Given the description of an element on the screen output the (x, y) to click on. 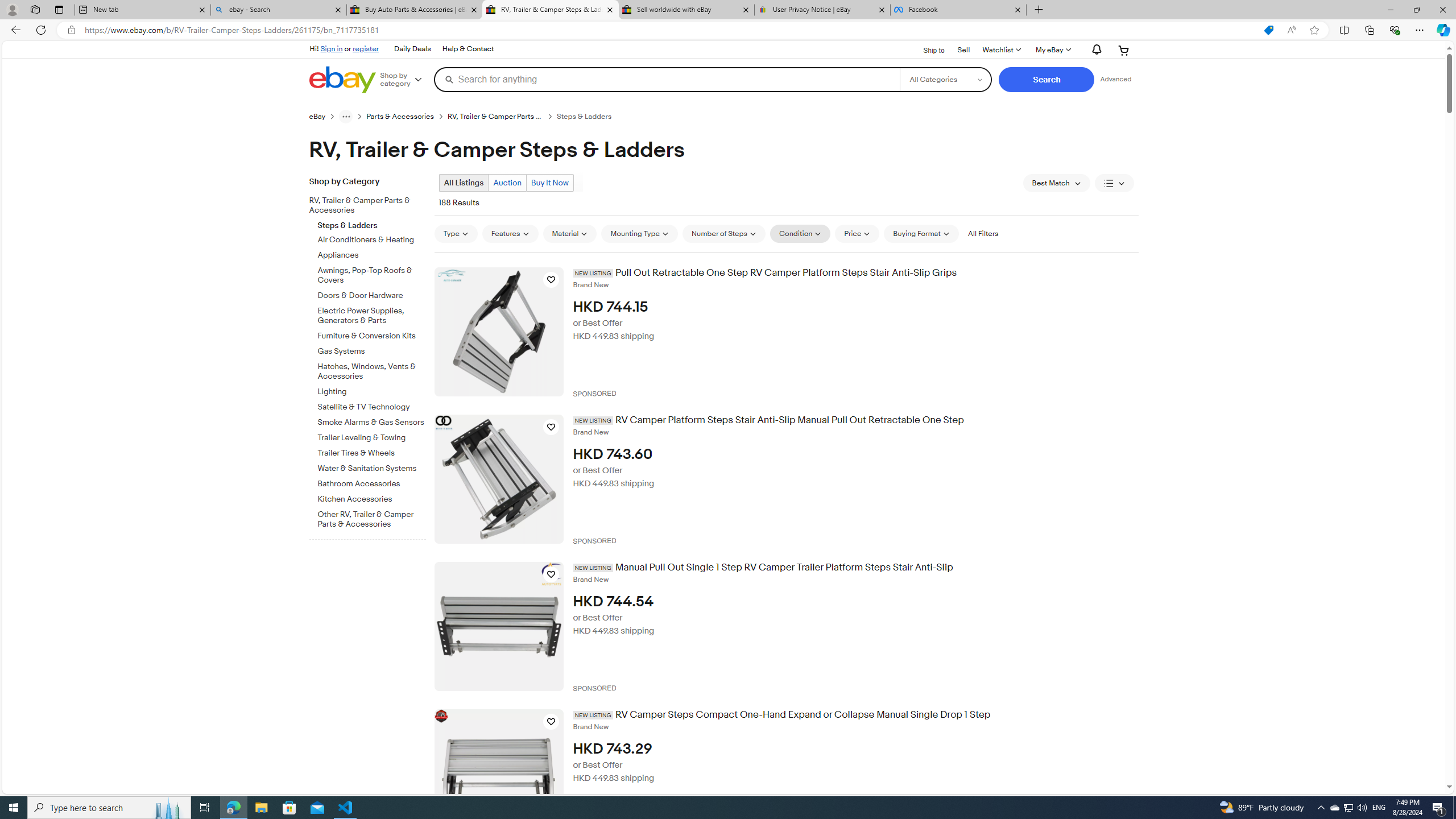
Watchlist (1000, 49)
Features (509, 233)
ebay - Search (277, 9)
Bathroom Accessories (371, 481)
Material (569, 233)
Smoke Alarms & Gas Sensors (371, 422)
Facebook (957, 9)
